Given the description of an element on the screen output the (x, y) to click on. 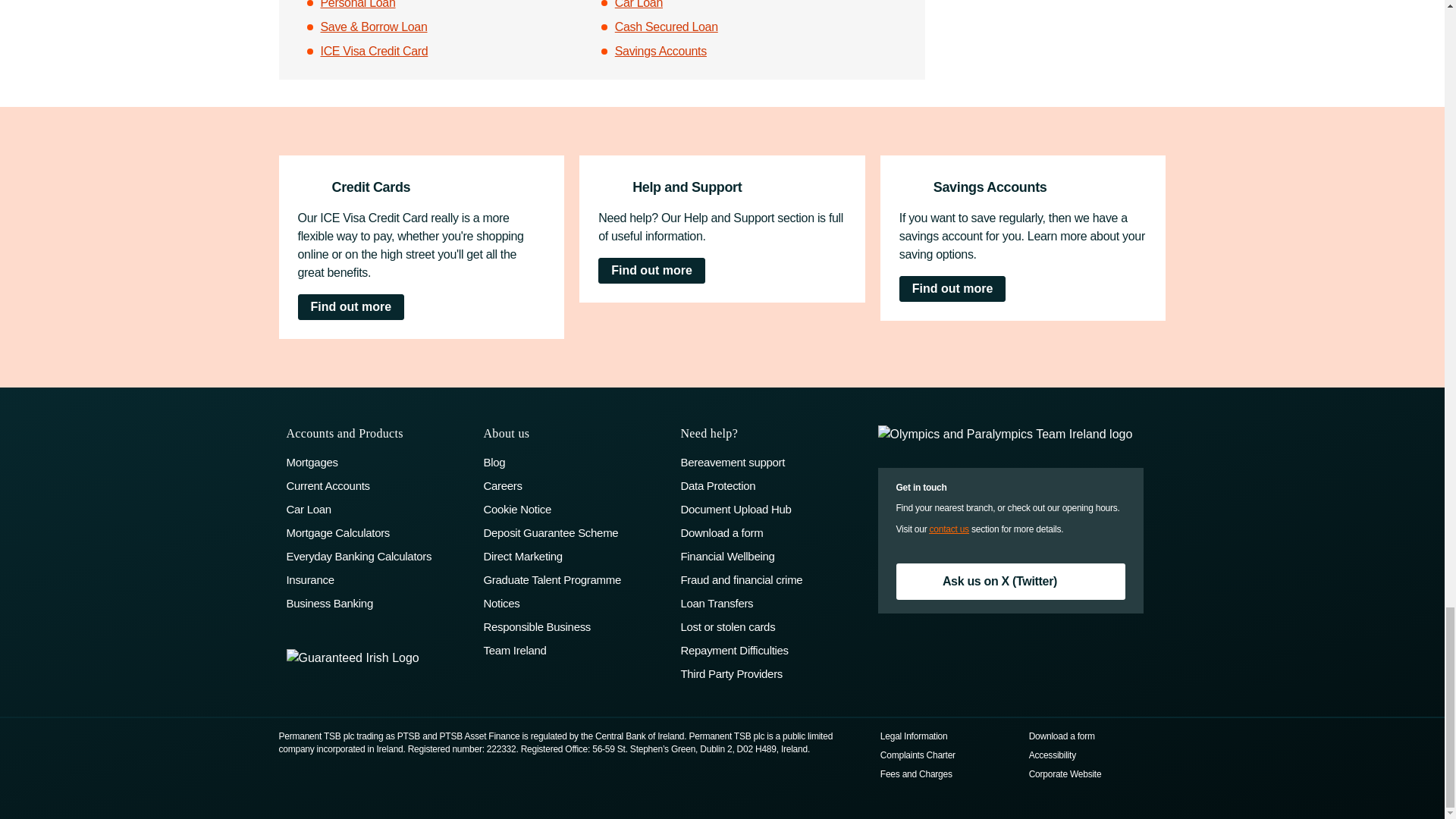
Document Upload Hub (770, 508)
Cookie Notice (574, 508)
